Given the description of an element on the screen output the (x, y) to click on. 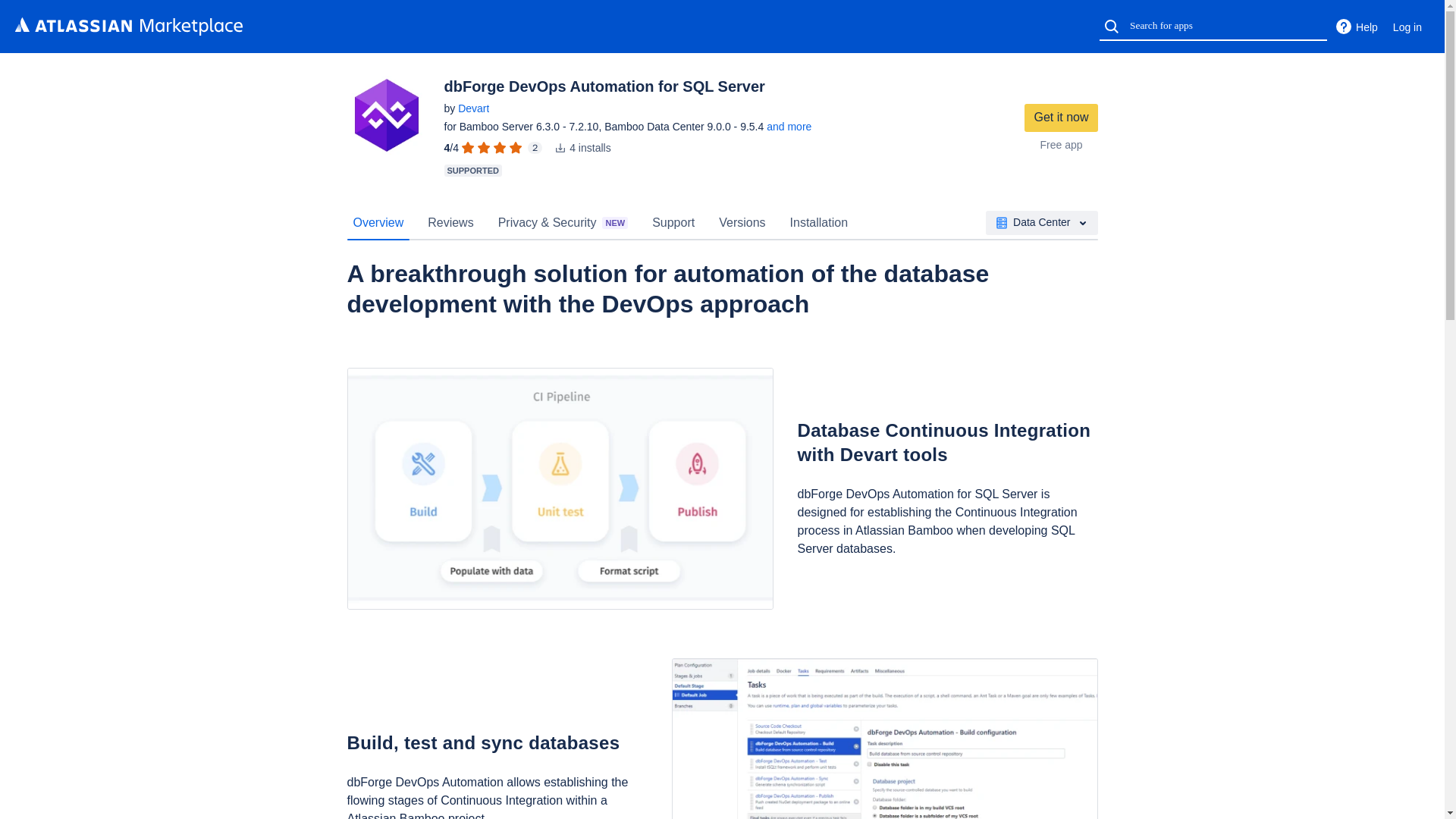
Log in (1407, 26)
Help (1356, 26)
Atlassian Marketplace (128, 26)
Get it now (1061, 117)
Devart (473, 108)
View version history for more details (788, 126)
and more (788, 126)
Data Center (1041, 222)
